Given the description of an element on the screen output the (x, y) to click on. 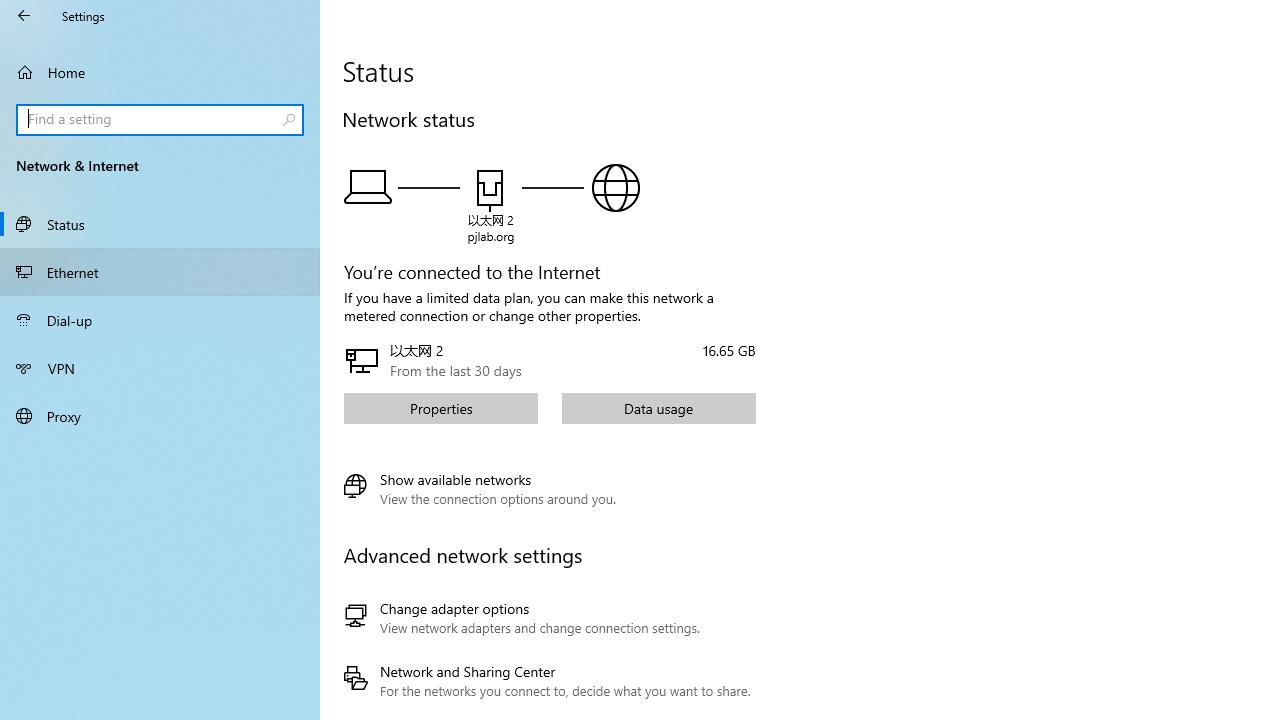
Search box, Find a setting (160, 119)
Ethernet (160, 271)
VPN (160, 367)
Proxy (160, 415)
Network and Sharing Center (546, 681)
Show available networks (479, 489)
Status (160, 223)
Change adapter options (546, 618)
Dial-up (160, 319)
